Given the description of an element on the screen output the (x, y) to click on. 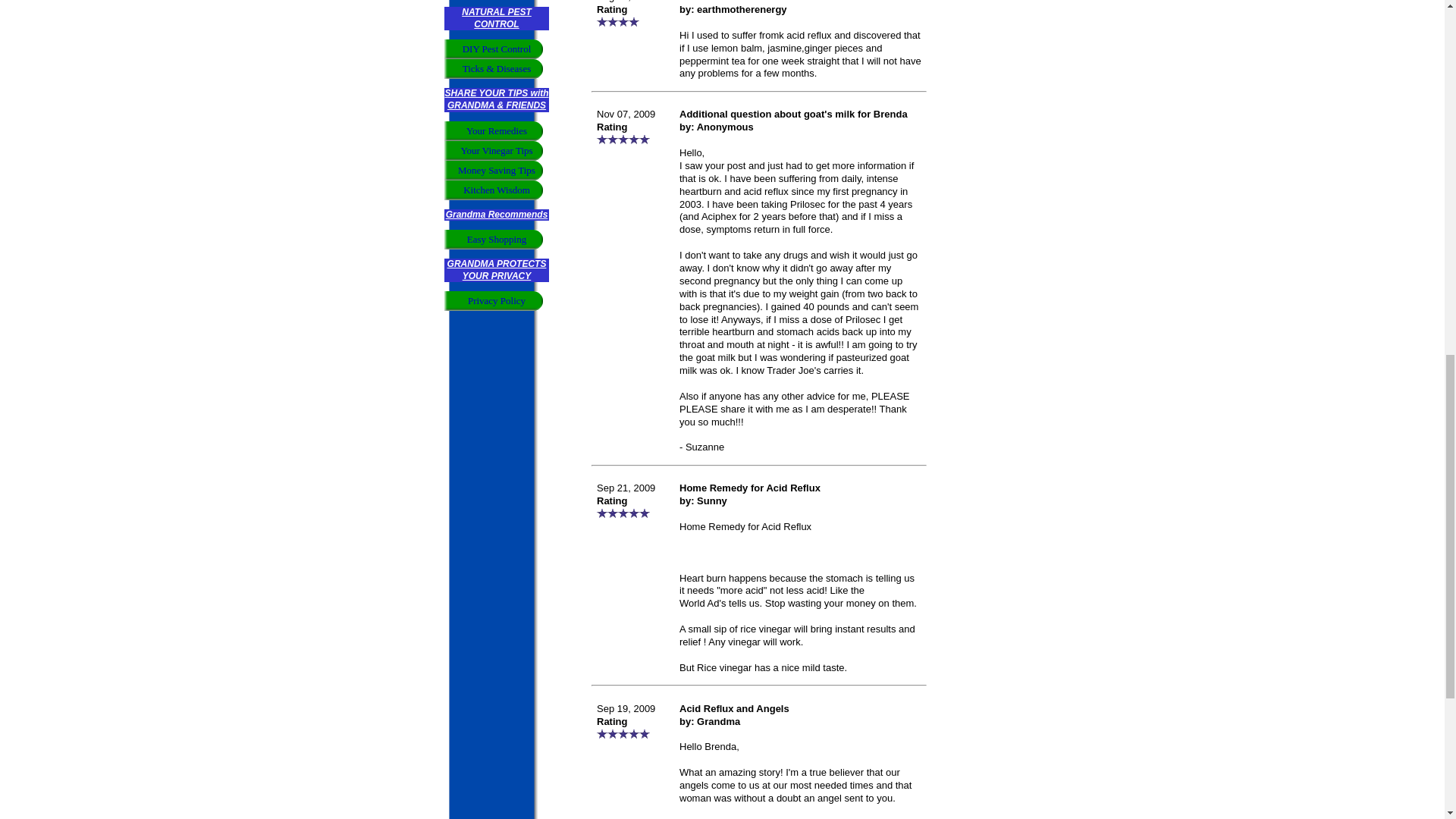
Easy Shopping (496, 239)
Your Vinegar Tips (496, 150)
Money Saving Tips (496, 170)
DIY Pest Control (496, 48)
Kitchen Wisdom (496, 189)
Your Remedies (496, 130)
Privacy Policy (496, 301)
